Given the description of an element on the screen output the (x, y) to click on. 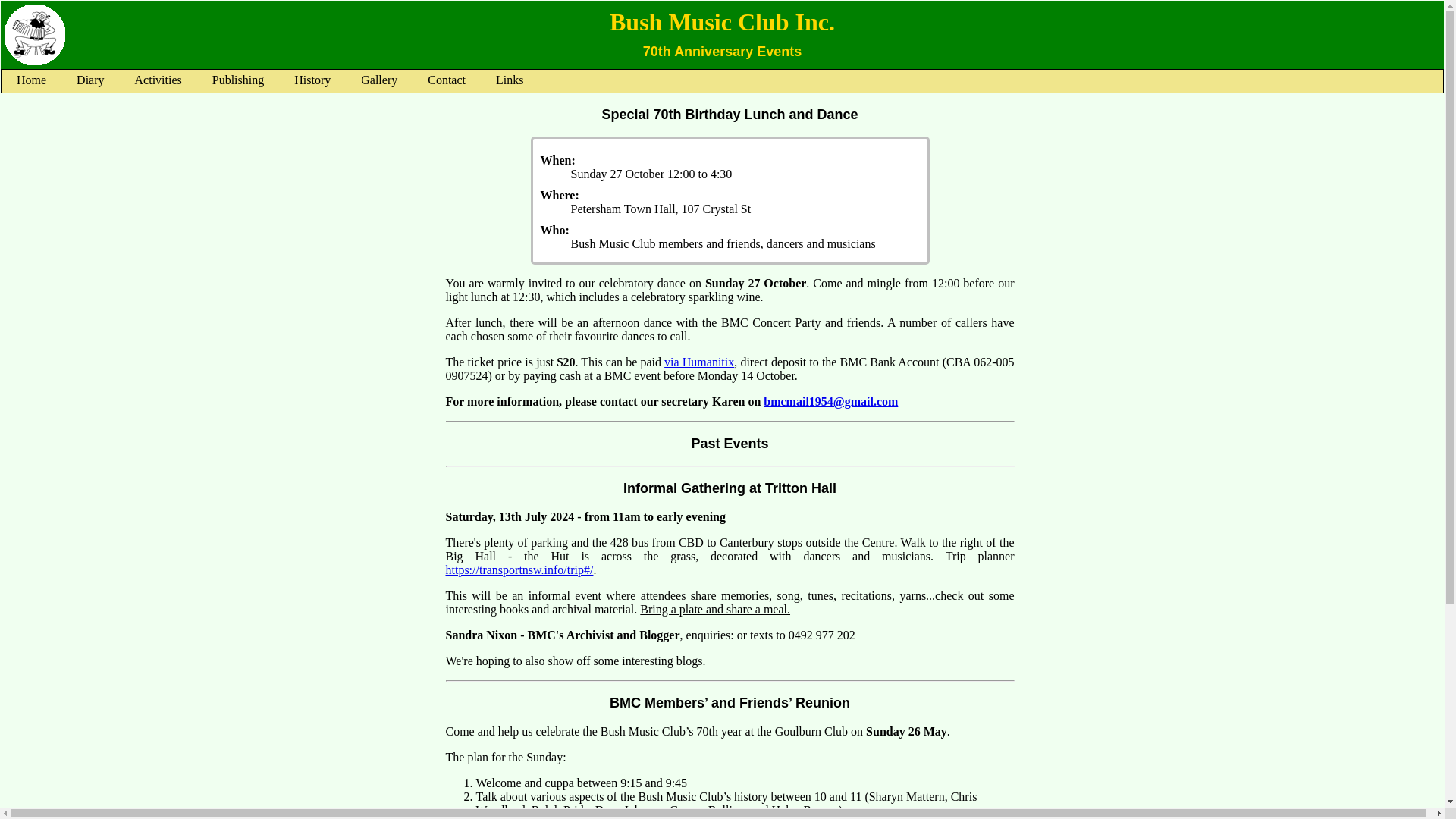
Diary (90, 79)
Activities (157, 79)
Publishing (237, 79)
Links (509, 79)
Home (31, 79)
History (312, 79)
Gallery (379, 79)
Contact (446, 79)
